Given the description of an element on the screen output the (x, y) to click on. 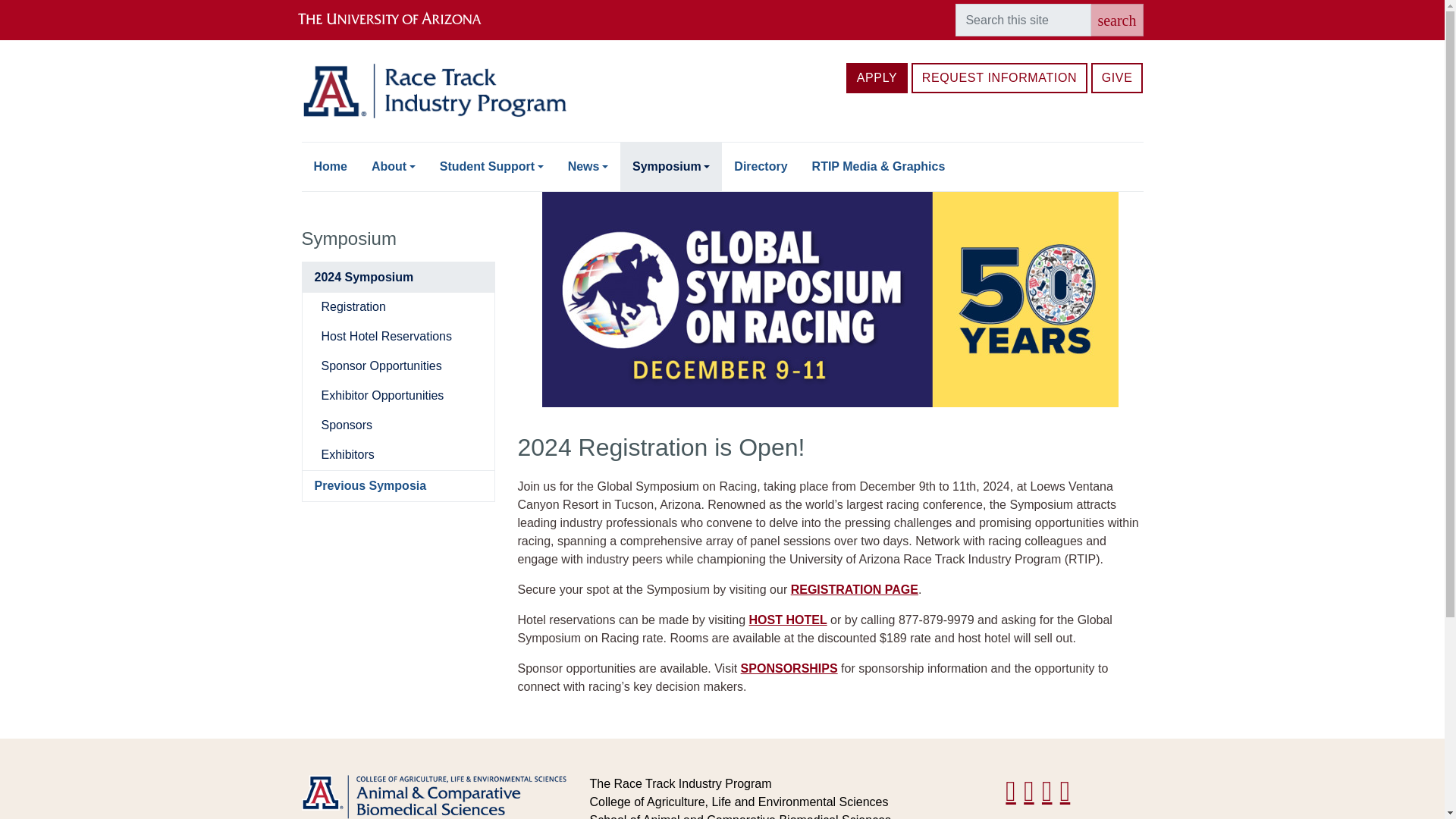
Symposium (671, 166)
HOST HOTEL (788, 619)
Home (330, 166)
Student Support (492, 166)
Skip to main content (721, 1)
REQUEST INFORMATION (999, 78)
Directory (760, 166)
GIVE (1116, 78)
The University of Arizona homepage (401, 20)
REGISTRATION PAGE (854, 589)
News (588, 166)
APPLY (876, 78)
Enter the terms you wish to search for. (1022, 20)
About (393, 166)
search (1116, 20)
